Given the description of an element on the screen output the (x, y) to click on. 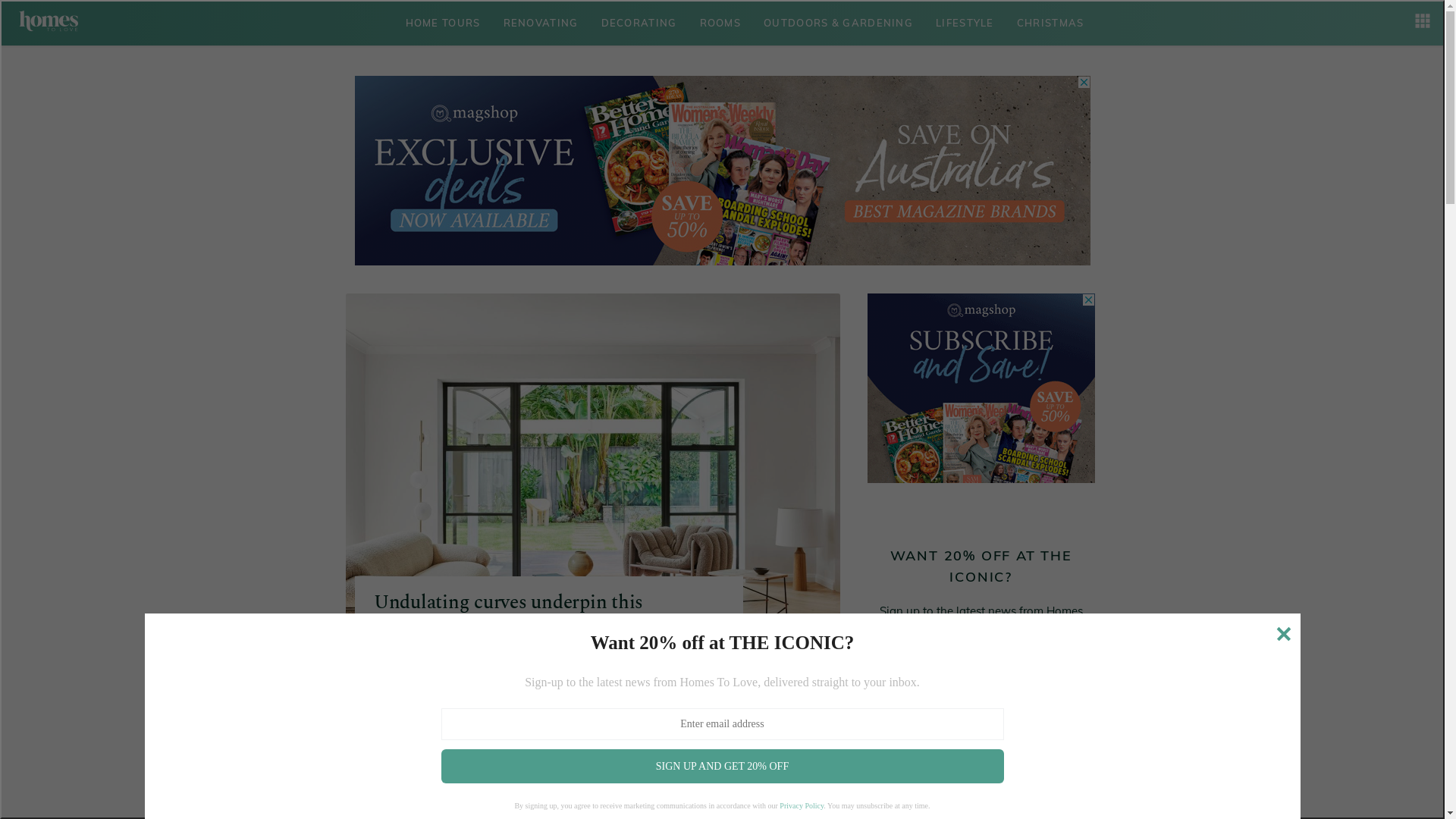
SIGN UP Element type: text (980, 680)
3rd party ad content Element type: hover (981, 388)
3rd party ad content Element type: hover (722, 170)
Privacy Policy Element type: text (801, 805)
SIGN UP AND GET 20% OFF Element type: text (722, 766)
